Given the description of an element on the screen output the (x, y) to click on. 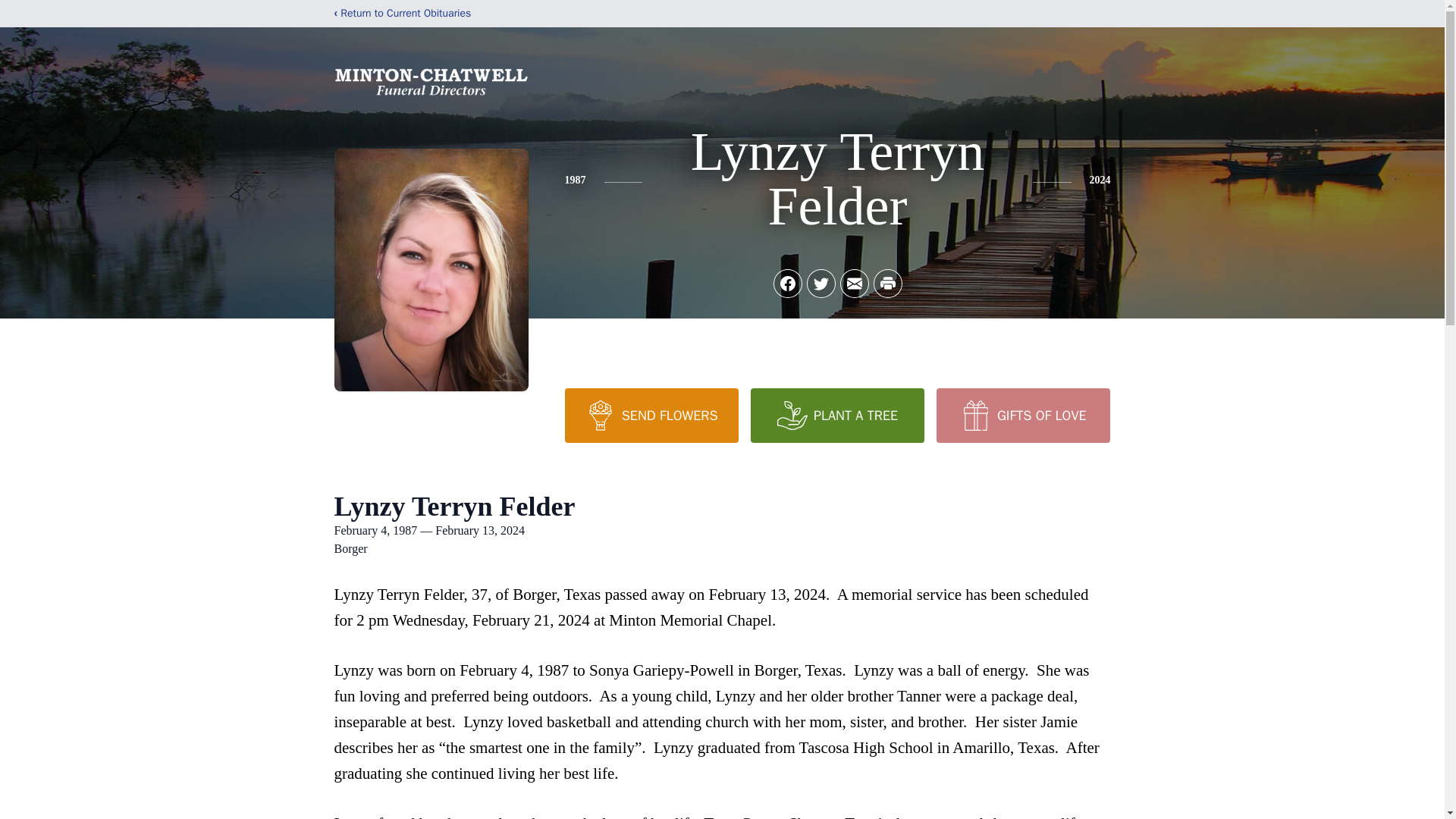
GIFTS OF LOVE (1022, 415)
SEND FLOWERS (651, 415)
PLANT A TREE (837, 415)
